Given the description of an element on the screen output the (x, y) to click on. 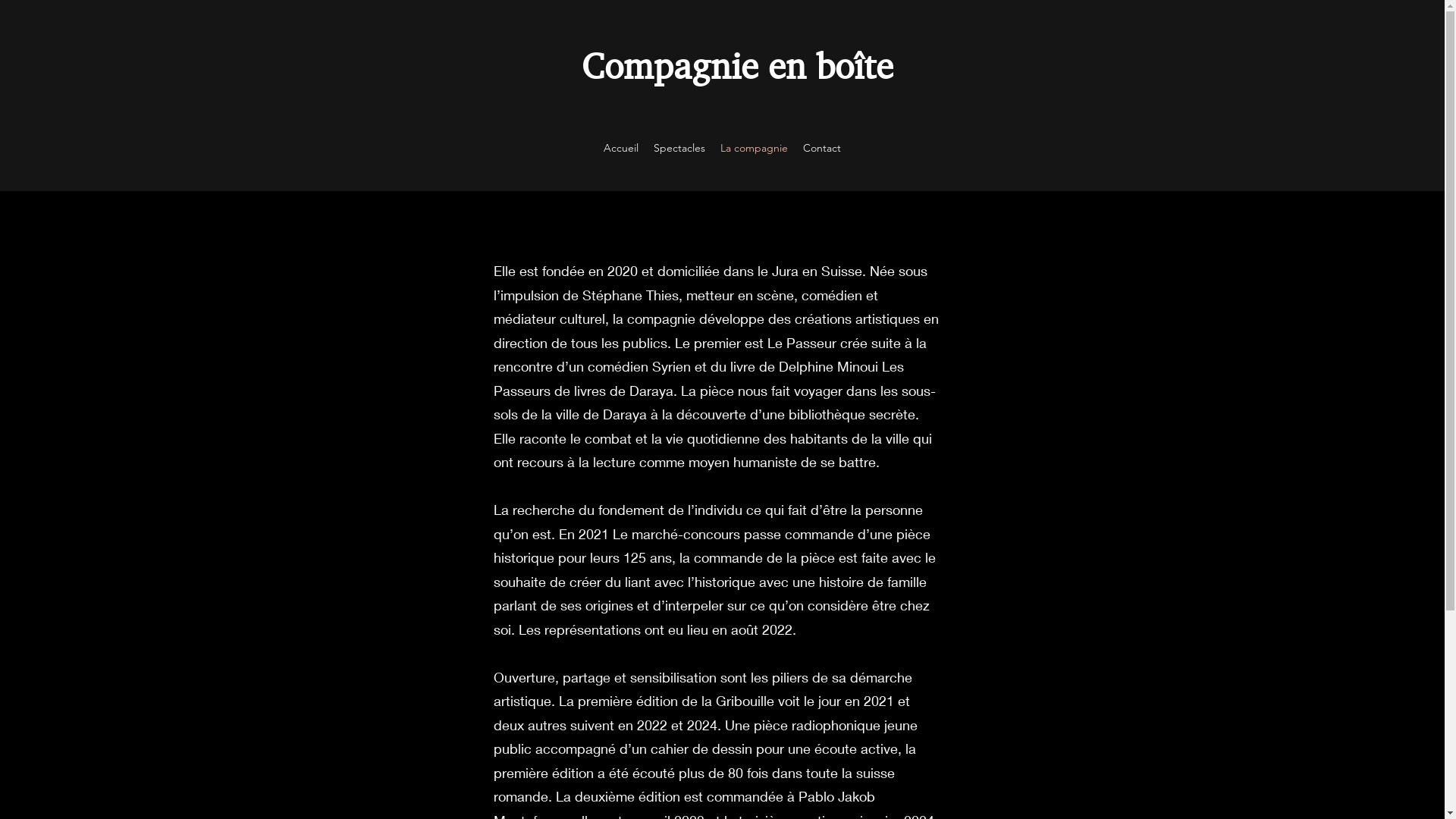
Spectacles Element type: text (679, 147)
Accueil Element type: text (621, 147)
La compagnie Element type: text (753, 147)
Contact Element type: text (821, 147)
